Given the description of an element on the screen output the (x, y) to click on. 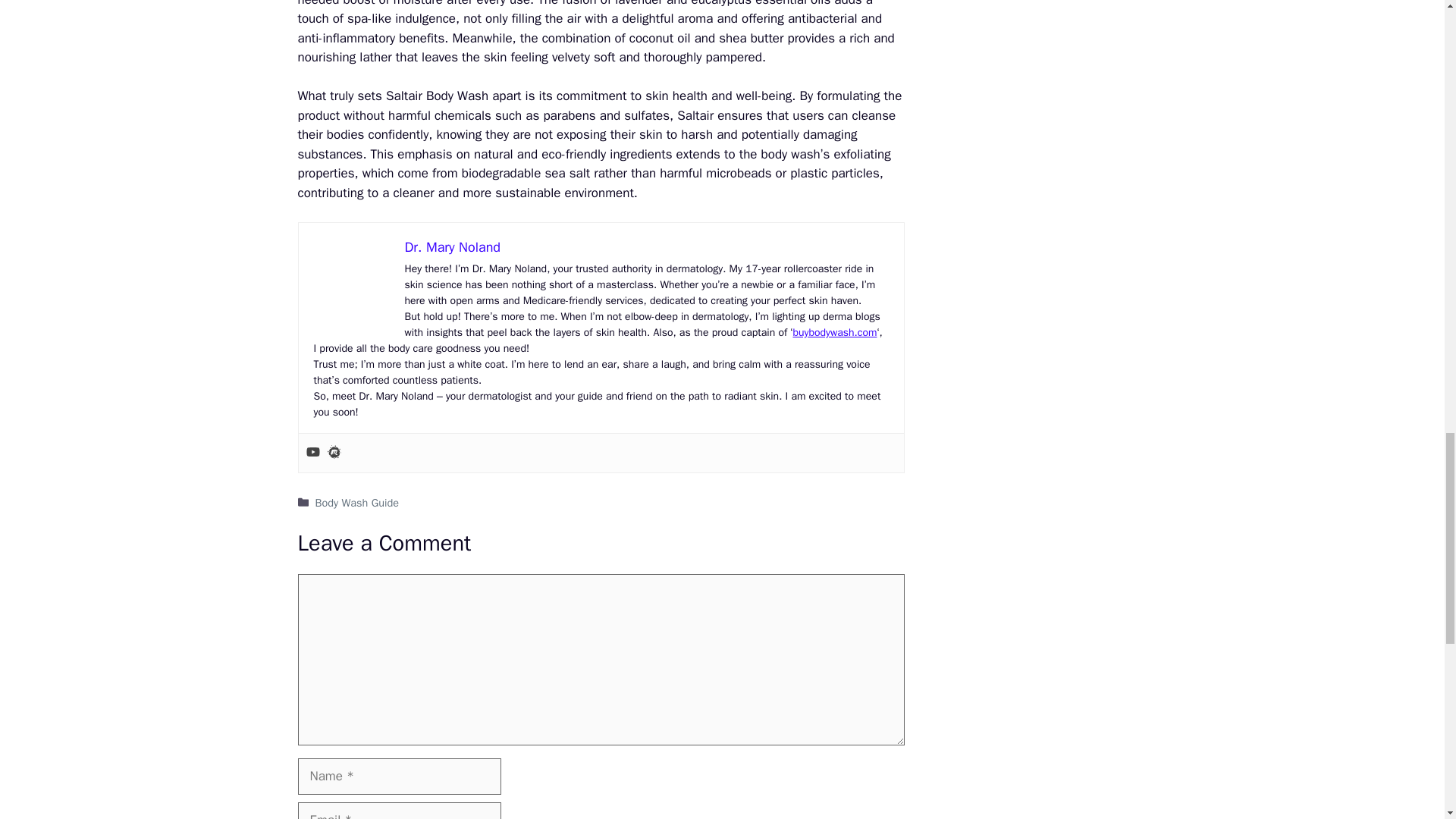
Dr. Mary Noland (452, 247)
buybodywash.com (834, 332)
Body Wash Guide (356, 502)
